Given the description of an element on the screen output the (x, y) to click on. 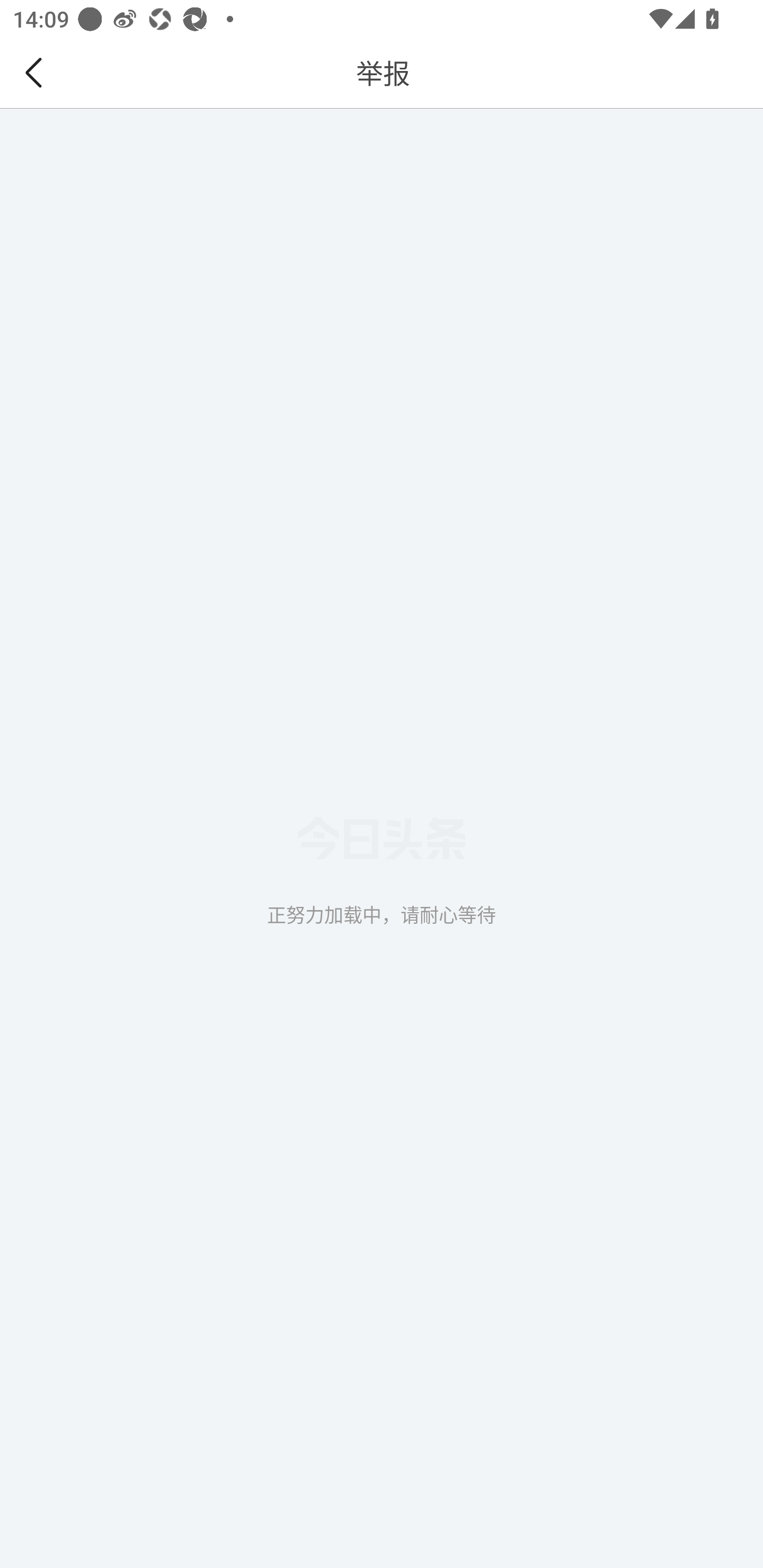
返回，按钮 (37, 72)
